Given the description of an element on the screen output the (x, y) to click on. 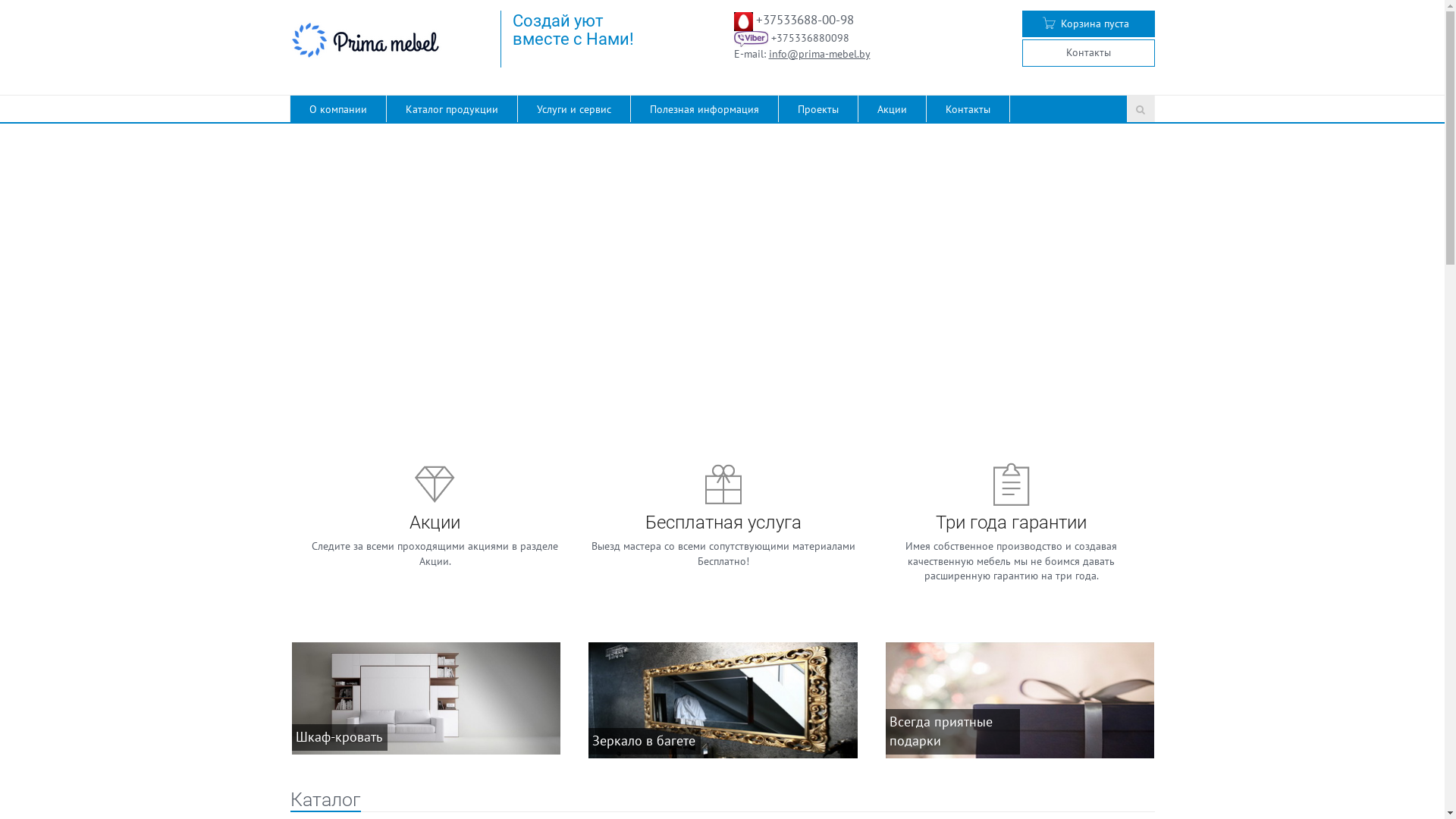
info@prima-mebel.by Element type: text (819, 53)
